Given the description of an element on the screen output the (x, y) to click on. 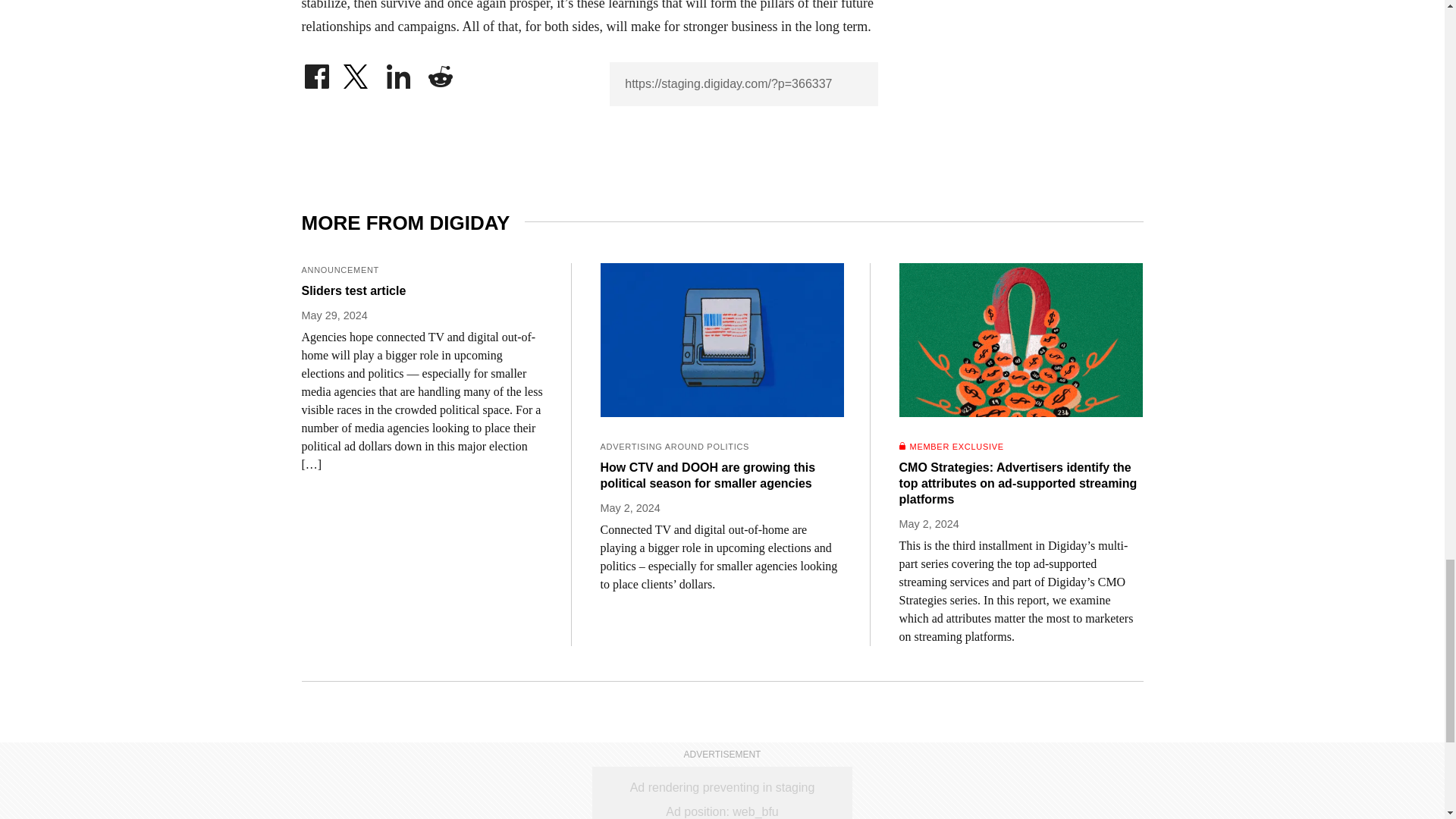
Share on Twitter (357, 72)
Share on LinkedIn (398, 72)
Share on Facebook (316, 72)
Share on Reddit (440, 72)
Sliders test article (423, 290)
